Given the description of an element on the screen output the (x, y) to click on. 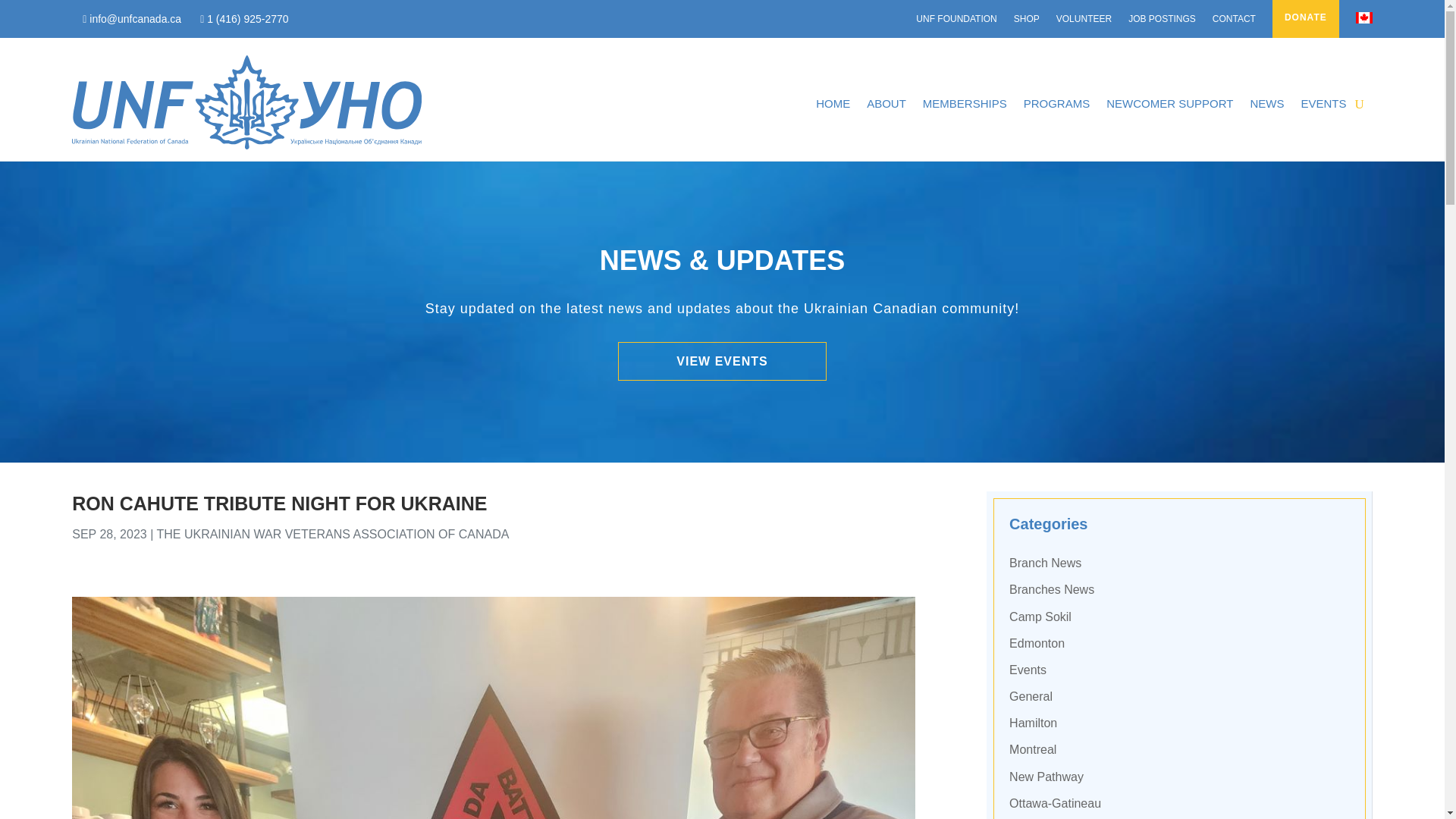
SHOP (1026, 21)
NEWCOMER SUPPORT (1169, 102)
UNF FOUNDATION (955, 21)
JOB POSTINGS (1161, 21)
VOLUNTEER (1084, 21)
CONTACT (1233, 21)
EVENTS (1322, 102)
UNF Ukrainian National Federation of Canada (246, 102)
MEMBERSHIPS (965, 102)
ABOUT (885, 102)
DONATE (1305, 22)
HOME (832, 102)
NEWS (1266, 102)
PROGRAMS (1056, 102)
